Given the description of an element on the screen output the (x, y) to click on. 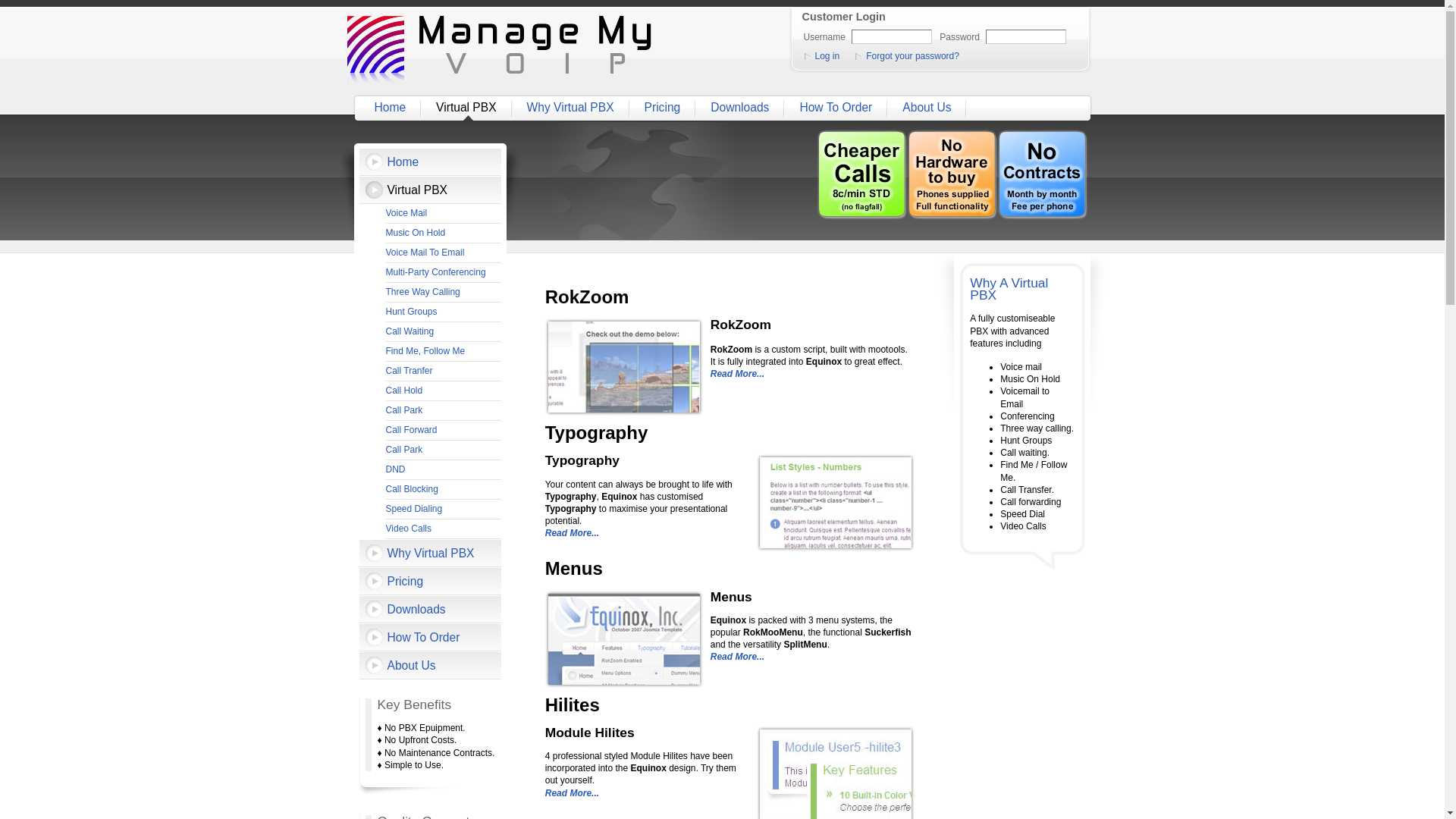
Home Element type: text (391, 108)
Read More... Element type: text (572, 794)
Call Waiting Element type: text (442, 332)
Virtual PBX Element type: text (430, 189)
Read More... Element type: text (737, 658)
Call Blocking Element type: text (442, 489)
Virtual PBX Element type: text (467, 108)
Video Calls Element type: text (442, 529)
Why Virtual PBX Element type: text (430, 553)
Speed Dialing Element type: text (442, 509)
Read More... Element type: text (737, 375)
How To Order Element type: text (836, 108)
Call Hold Element type: text (442, 391)
Pricing Element type: text (663, 108)
Call Park Element type: text (442, 450)
Log in Element type: text (825, 56)
Call Tranfer Element type: text (442, 371)
How To Order Element type: text (430, 637)
Find Me, Follow Me Element type: text (442, 351)
Three Way Calling Element type: text (442, 292)
Downloads Element type: text (430, 609)
About Us Element type: text (927, 108)
Multi-Party Conferencing Element type: text (442, 272)
Home Element type: text (430, 161)
Read More... Element type: text (572, 534)
About Us Element type: text (430, 665)
Why Virtual PBX Element type: text (571, 108)
Downloads Element type: text (740, 108)
No Contracts - Manag My VOIP Element type: hover (1042, 174)
Cheaper Calls - Manage My VOIP Element type: hover (862, 174)
Voice Mail To Email Element type: text (442, 253)
DND Element type: text (442, 470)
Call Park Element type: text (442, 410)
Call Forward Element type: text (442, 430)
Voice Mail Element type: text (442, 213)
Hunt Groups Element type: text (442, 312)
No Hardware - Manage My VOIP Element type: hover (951, 174)
Music On Hold Element type: text (442, 233)
Pricing Element type: text (430, 581)
Forgot your password? Element type: text (910, 56)
